Given the description of an element on the screen output the (x, y) to click on. 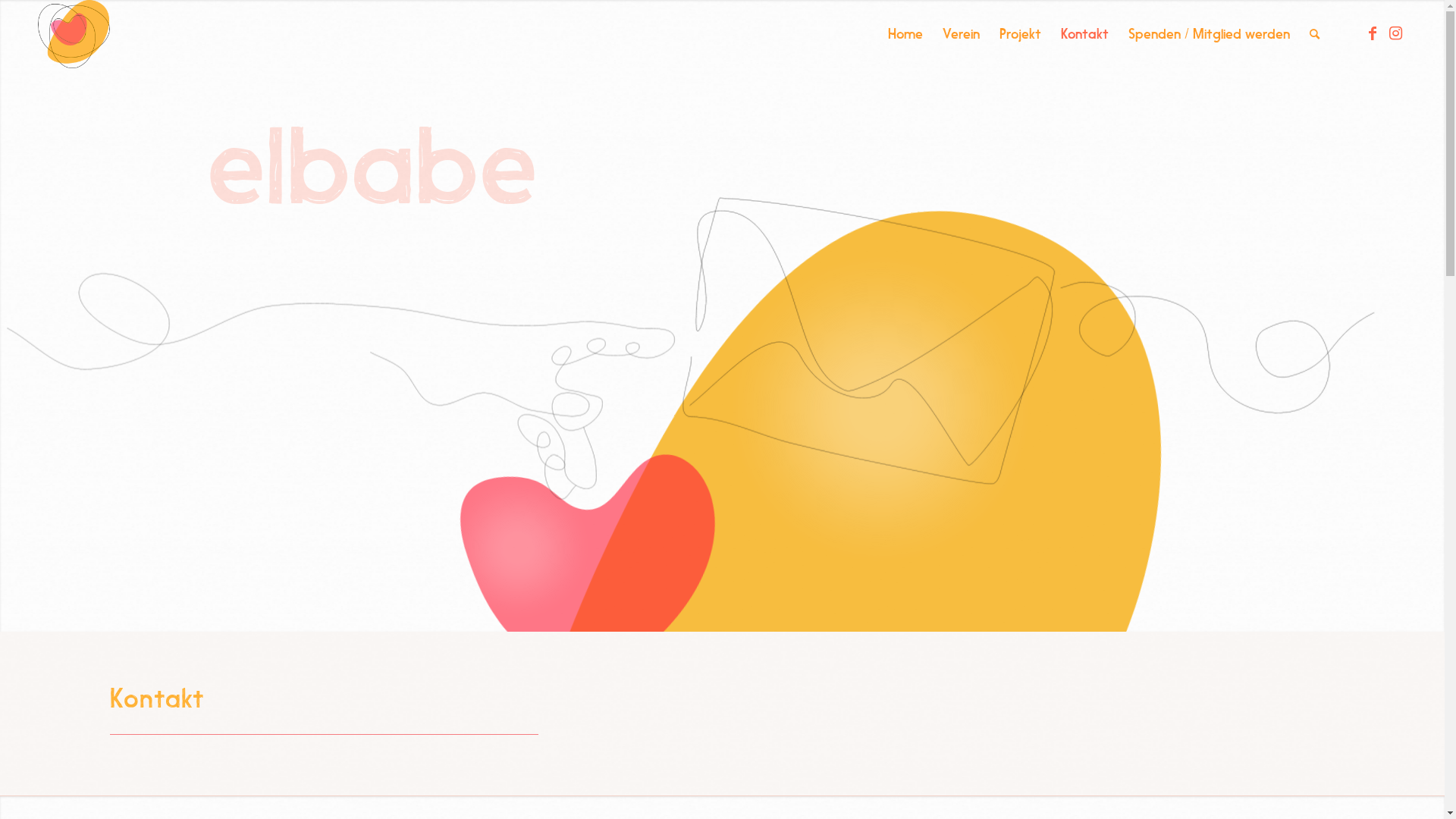
Facebook Element type: hover (1372, 32)
Home Element type: text (905, 34)
Instagram Element type: hover (1394, 32)
Kontakt Element type: text (1084, 34)
Projekt Element type: text (1020, 34)
Verein Element type: text (960, 34)
Spenden / Mitglied werden Element type: text (1208, 34)
